Given the description of an element on the screen output the (x, y) to click on. 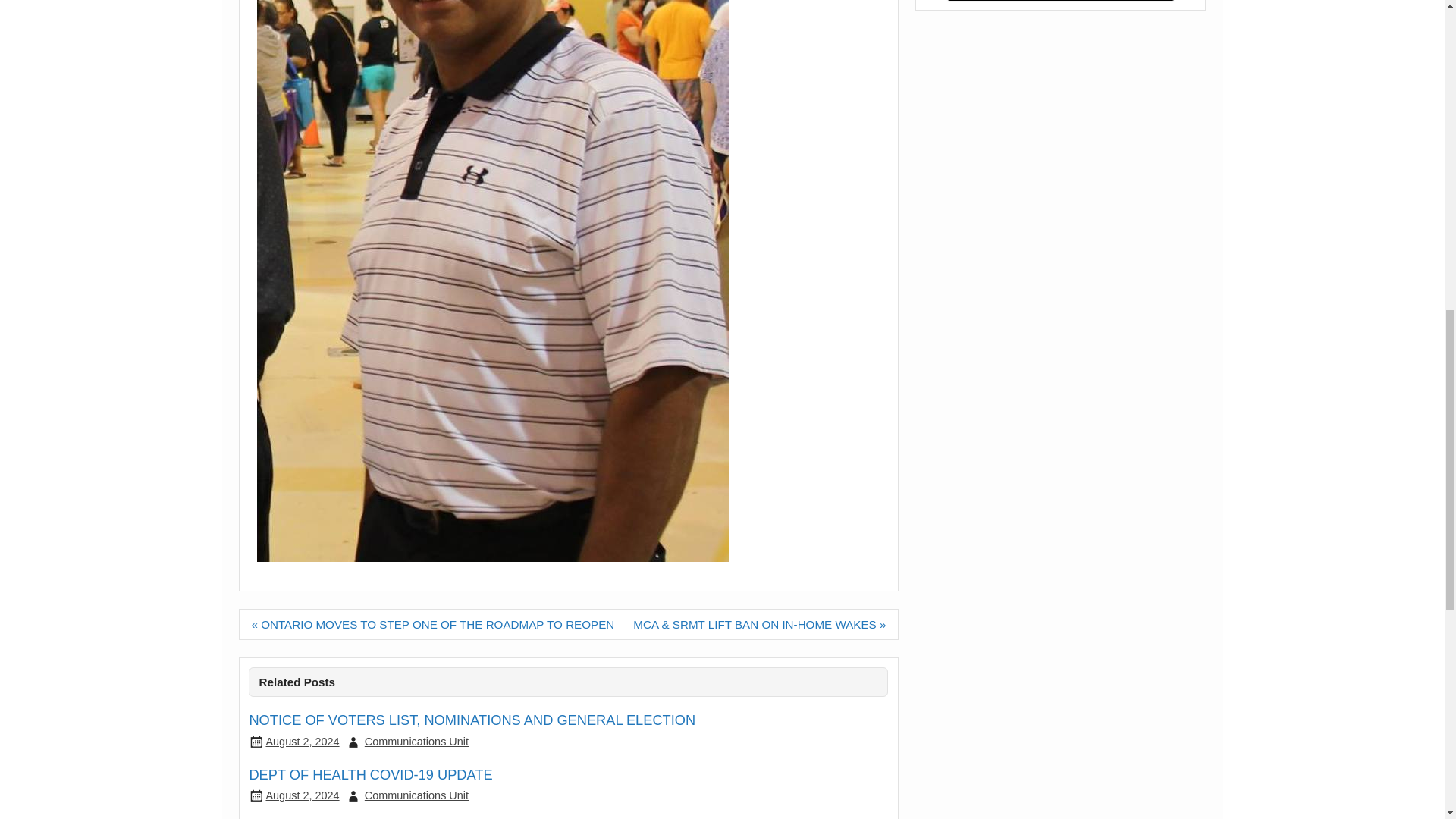
5:52 PM (301, 741)
View all posts by Communications Unit (416, 741)
10:39 AM (301, 795)
View all posts by Communications Unit (416, 795)
